Given the description of an element on the screen output the (x, y) to click on. 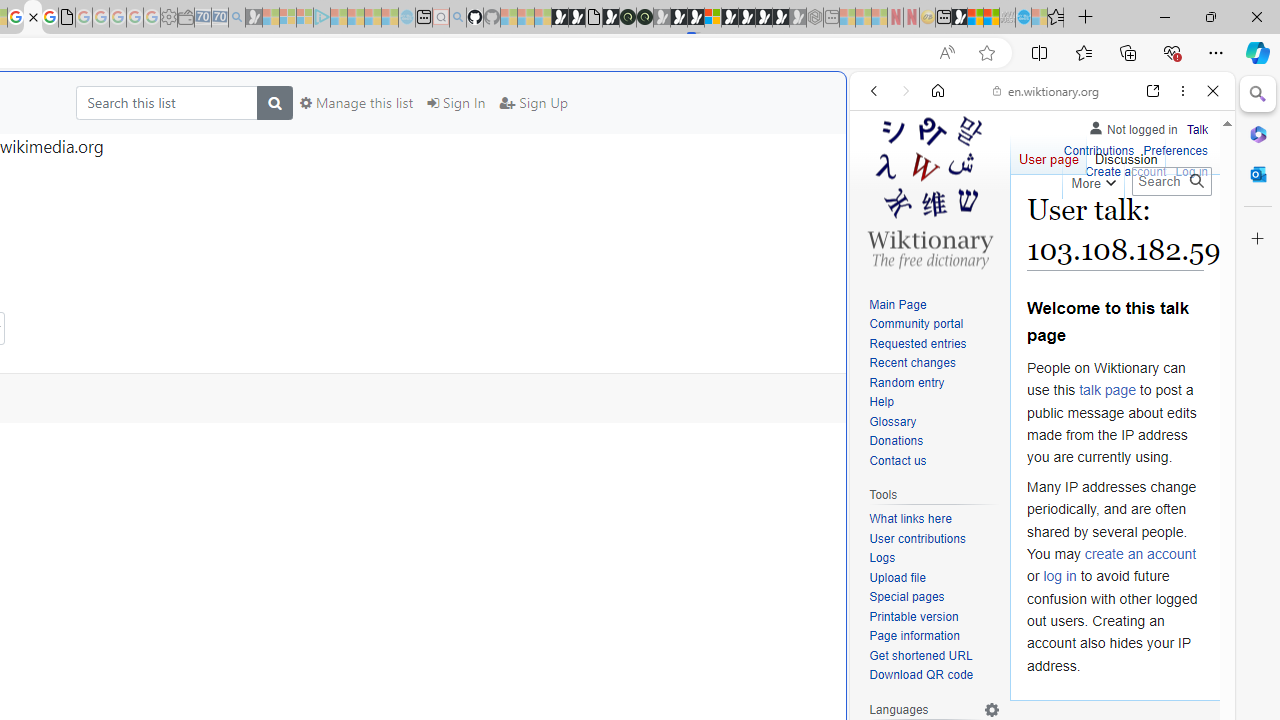
Tabs you've opened (276, 265)
User contributions (934, 539)
Printable version (934, 616)
Recent changes (912, 362)
Random entry (906, 382)
Logs (882, 557)
Close split screen (844, 102)
